Given the description of an element on the screen output the (x, y) to click on. 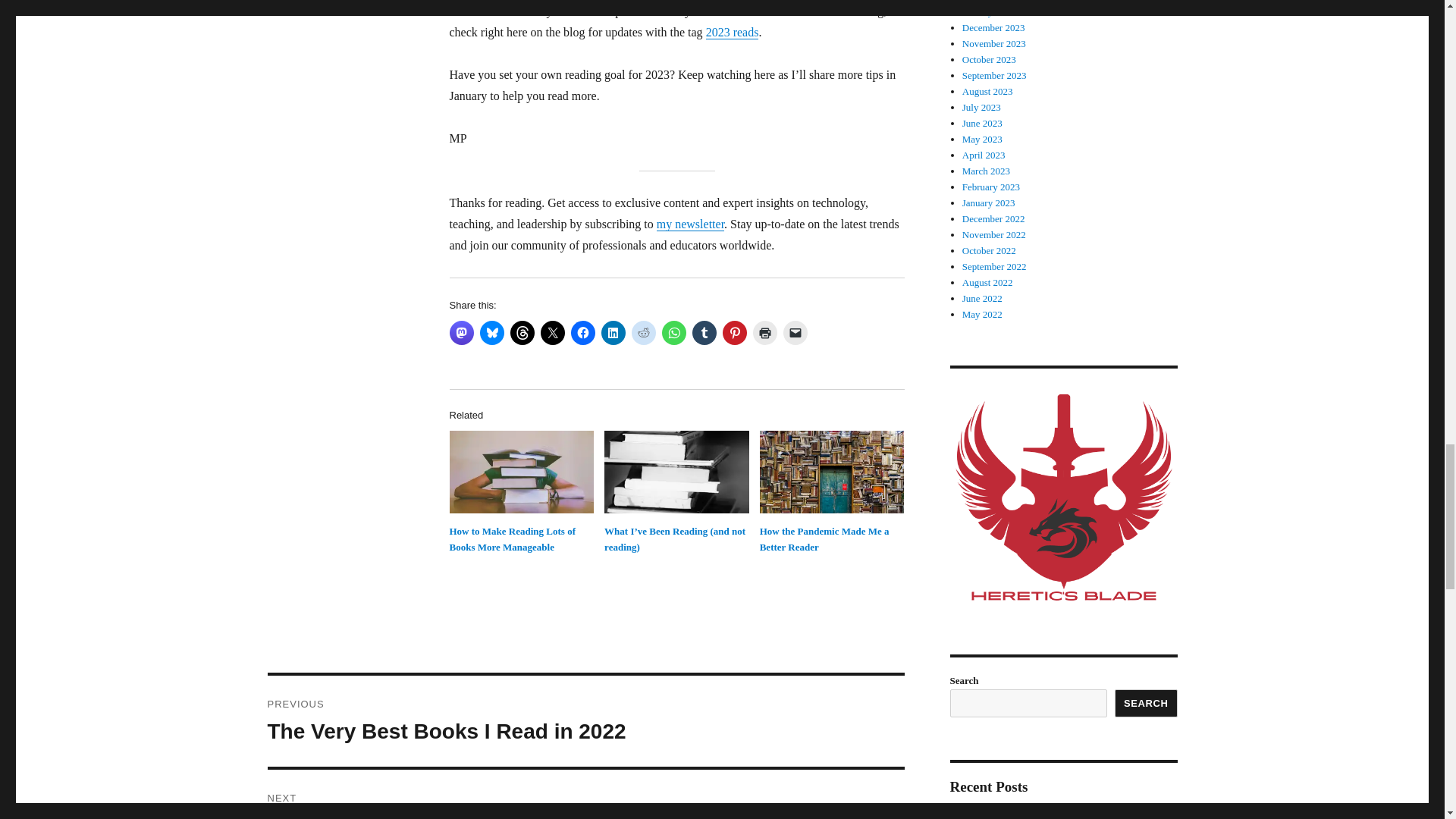
How to Make Reading Lots of Books More Manageable (521, 471)
2023 reads (732, 31)
How the Pandemic Made Me a Better Reader (824, 538)
How the Pandemic Made Me a Better Reader (832, 471)
How to Make Reading Lots of Books More Manageable (511, 538)
my newsletter (689, 223)
How to Make Reading Lots of Books More Manageable (511, 538)
How the Pandemic Made Me a Better Reader (824, 538)
